Given the description of an element on the screen output the (x, y) to click on. 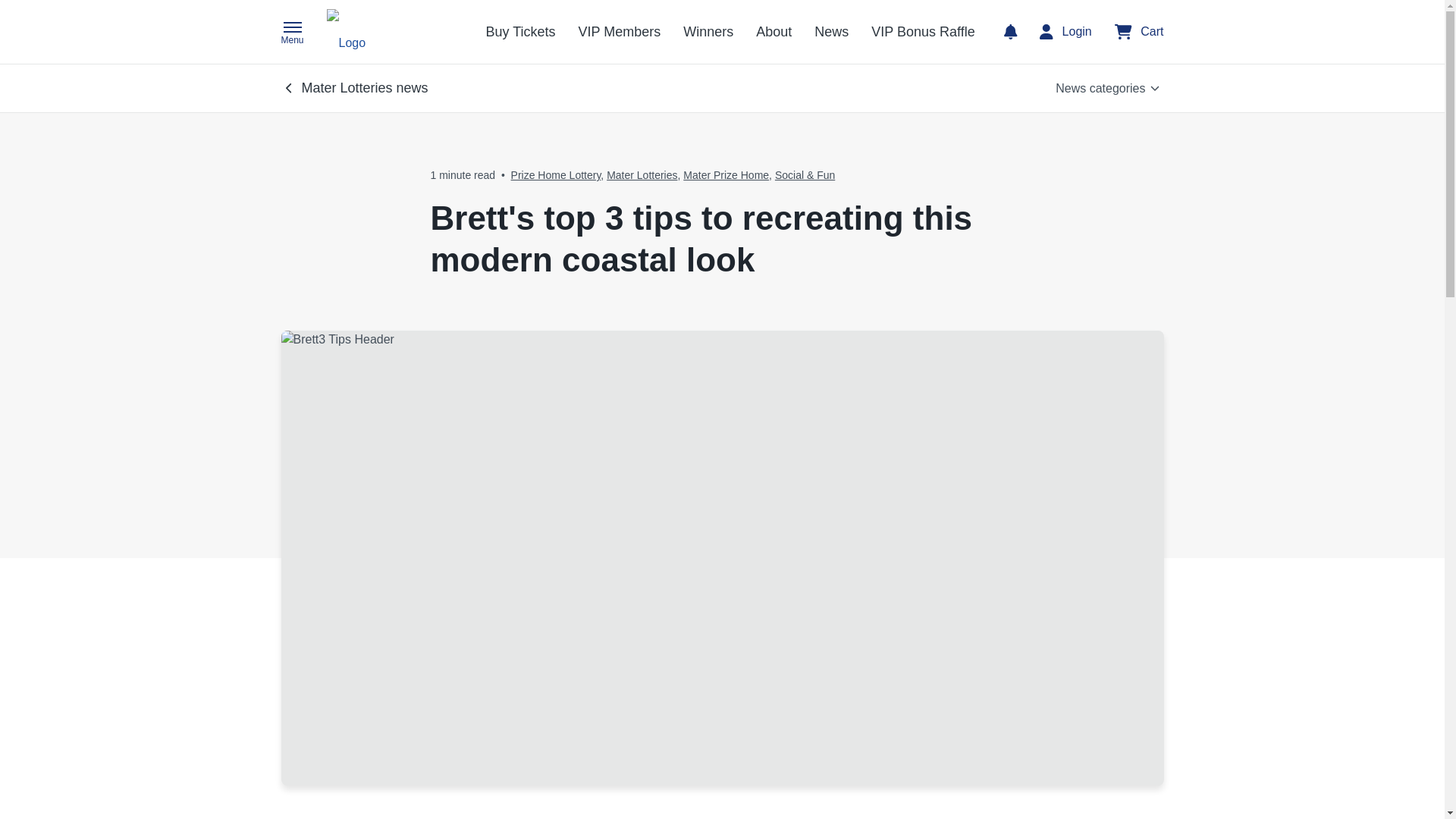
Login (1065, 31)
Winners (707, 31)
VIP Members (619, 31)
News (830, 31)
Prize Home Lottery (556, 174)
VIP Bonus Raffle (922, 31)
Mater Lotteries news (356, 87)
Cart (1139, 31)
Mater Lotteries (642, 174)
About (773, 31)
